Given the description of an element on the screen output the (x, y) to click on. 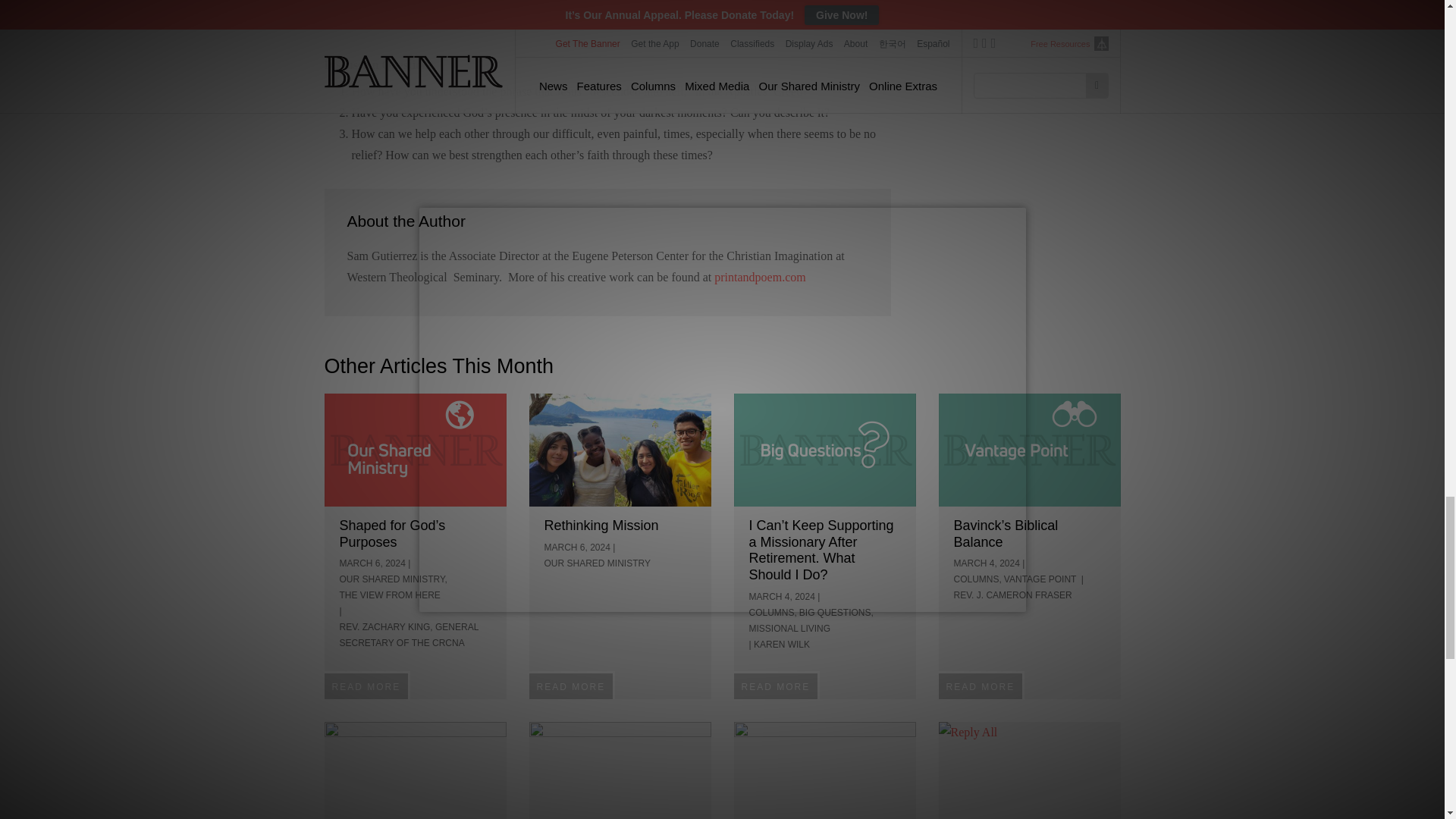
printandpoem.com (759, 277)
